Given the description of an element on the screen output the (x, y) to click on. 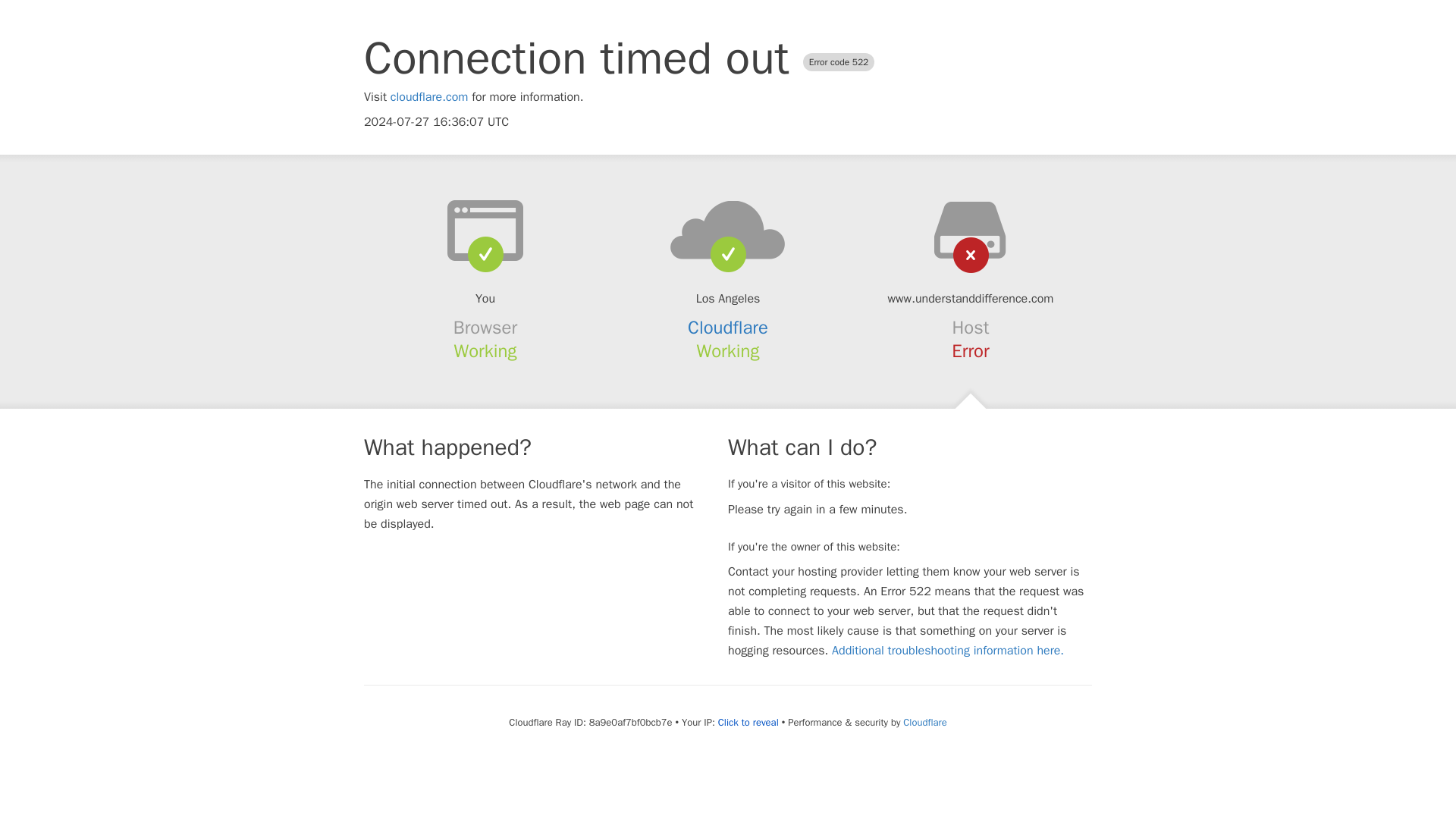
Cloudflare (924, 721)
Cloudflare (727, 327)
Additional troubleshooting information here. (947, 650)
Click to reveal (747, 722)
cloudflare.com (429, 96)
